Given the description of an element on the screen output the (x, y) to click on. 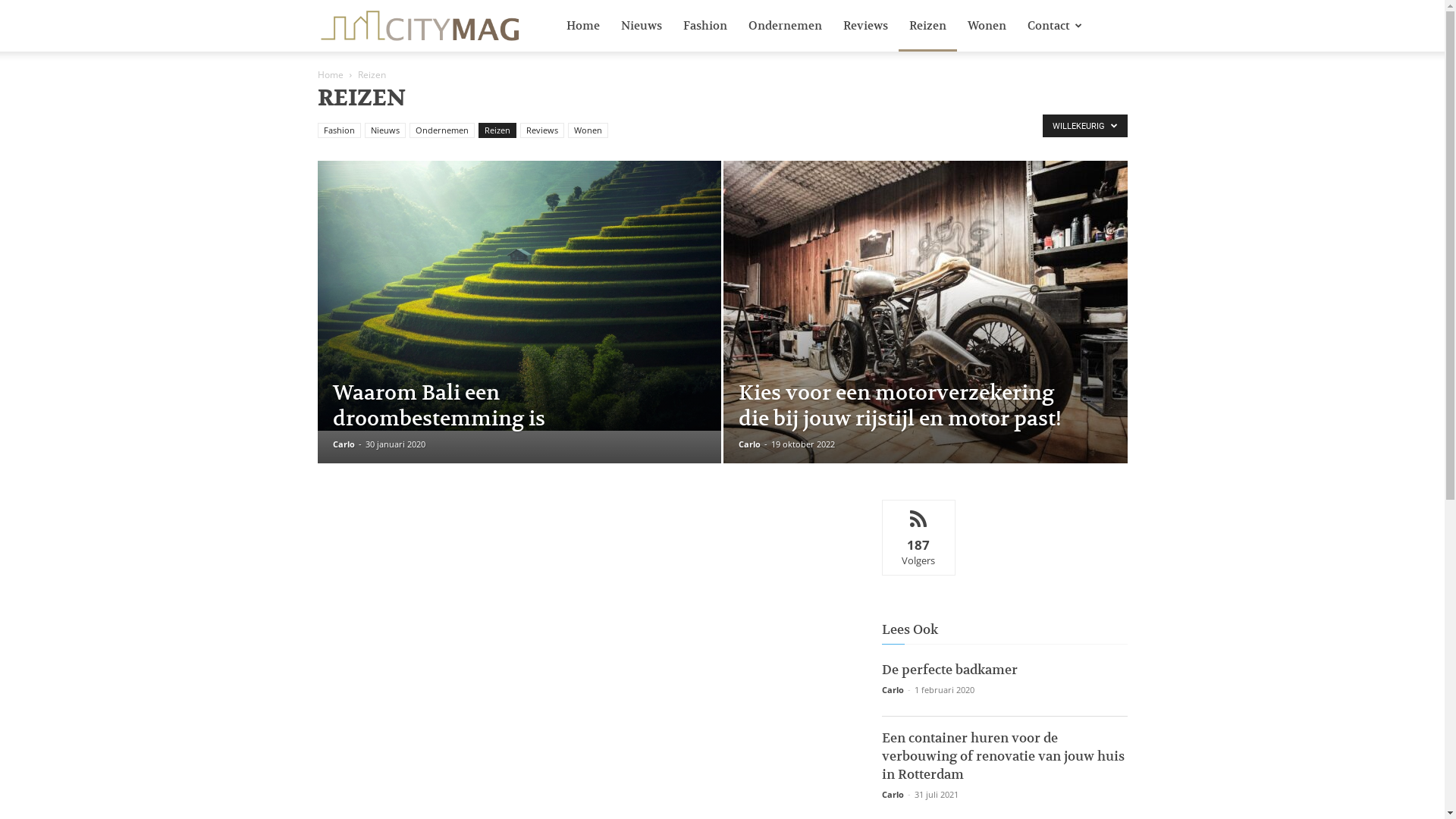
Wonen Element type: text (587, 130)
Reizen Element type: text (926, 25)
Ondernemen Element type: text (784, 25)
Contact Element type: text (1054, 25)
Reviews Element type: text (865, 25)
Nieuws Element type: text (384, 130)
Carlo Element type: text (749, 443)
Carlo Element type: text (892, 794)
Home Element type: text (582, 25)
De perfecte badkamer Element type: text (948, 669)
Nieuws Element type: text (640, 25)
Waarom Bali een droombestemming is Element type: text (438, 405)
Fashion Element type: text (338, 130)
Citymag.be Element type: text (419, 25)
Fashion Element type: text (704, 25)
Carlo Element type: text (892, 689)
Reizen Element type: text (496, 130)
Wonen Element type: text (986, 25)
Reviews Element type: text (542, 130)
Waarom Bali een droombestemming is Element type: hover (518, 295)
Waarom Bali een droombestemming is Element type: hover (518, 295)
Carlo Element type: text (343, 443)
Home Element type: text (329, 74)
Ondernemen Element type: text (441, 130)
